Given the description of an element on the screen output the (x, y) to click on. 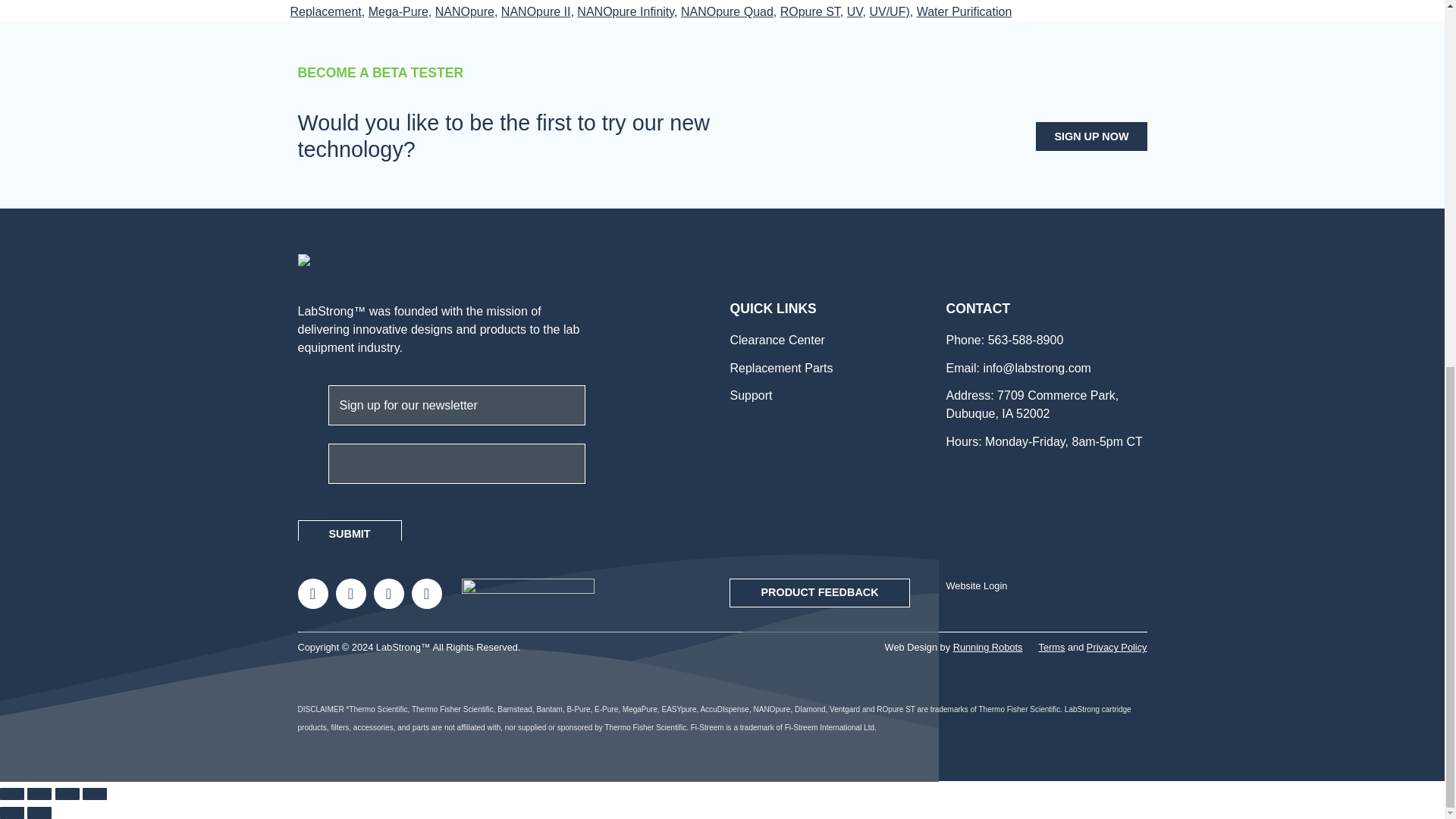
Submit (349, 533)
Labstrong-Logo-white (361, 262)
